Given the description of an element on the screen output the (x, y) to click on. 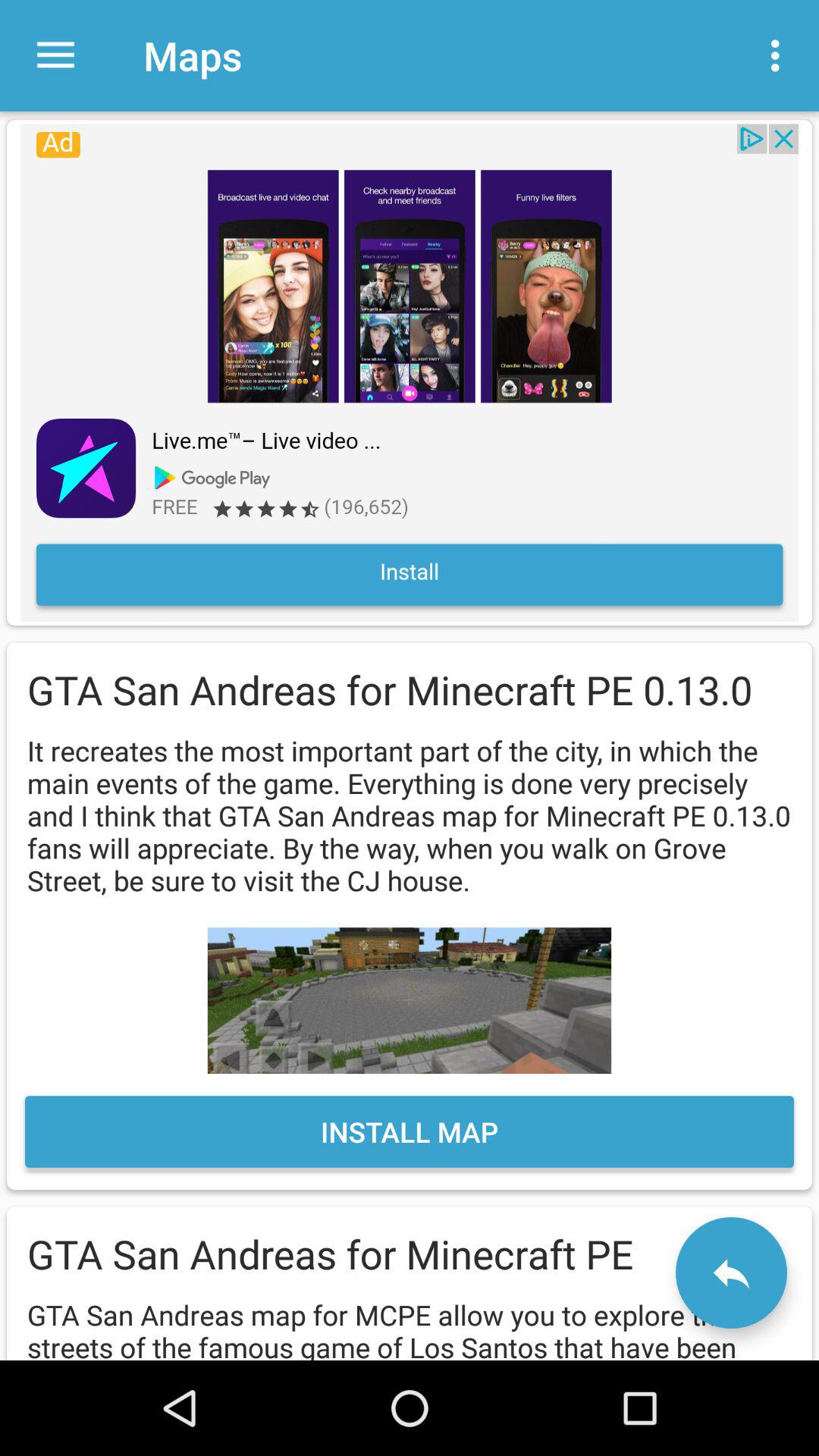
click on advertisement to install (409, 372)
